Given the description of an element on the screen output the (x, y) to click on. 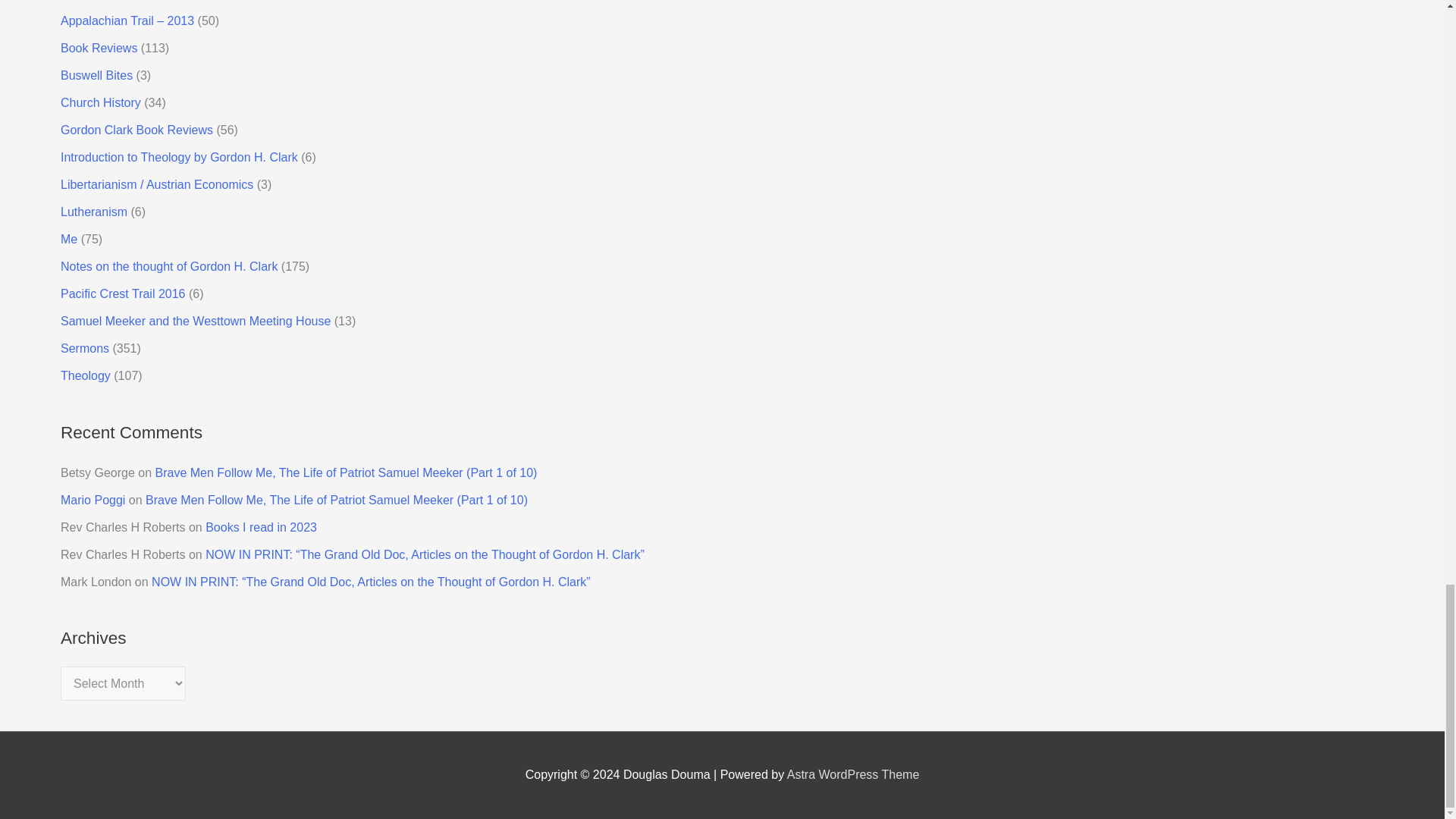
Pacific Crest Trail 2016 (123, 293)
Lutheranism (94, 211)
Buswell Bites (96, 74)
Book Reviews (98, 47)
Me (69, 238)
Notes on the thought of Gordon H. Clark (169, 266)
Introduction to Theology by Gordon H. Clark (179, 156)
Church History (101, 102)
Gordon Clark Book Reviews (136, 129)
